Given the description of an element on the screen output the (x, y) to click on. 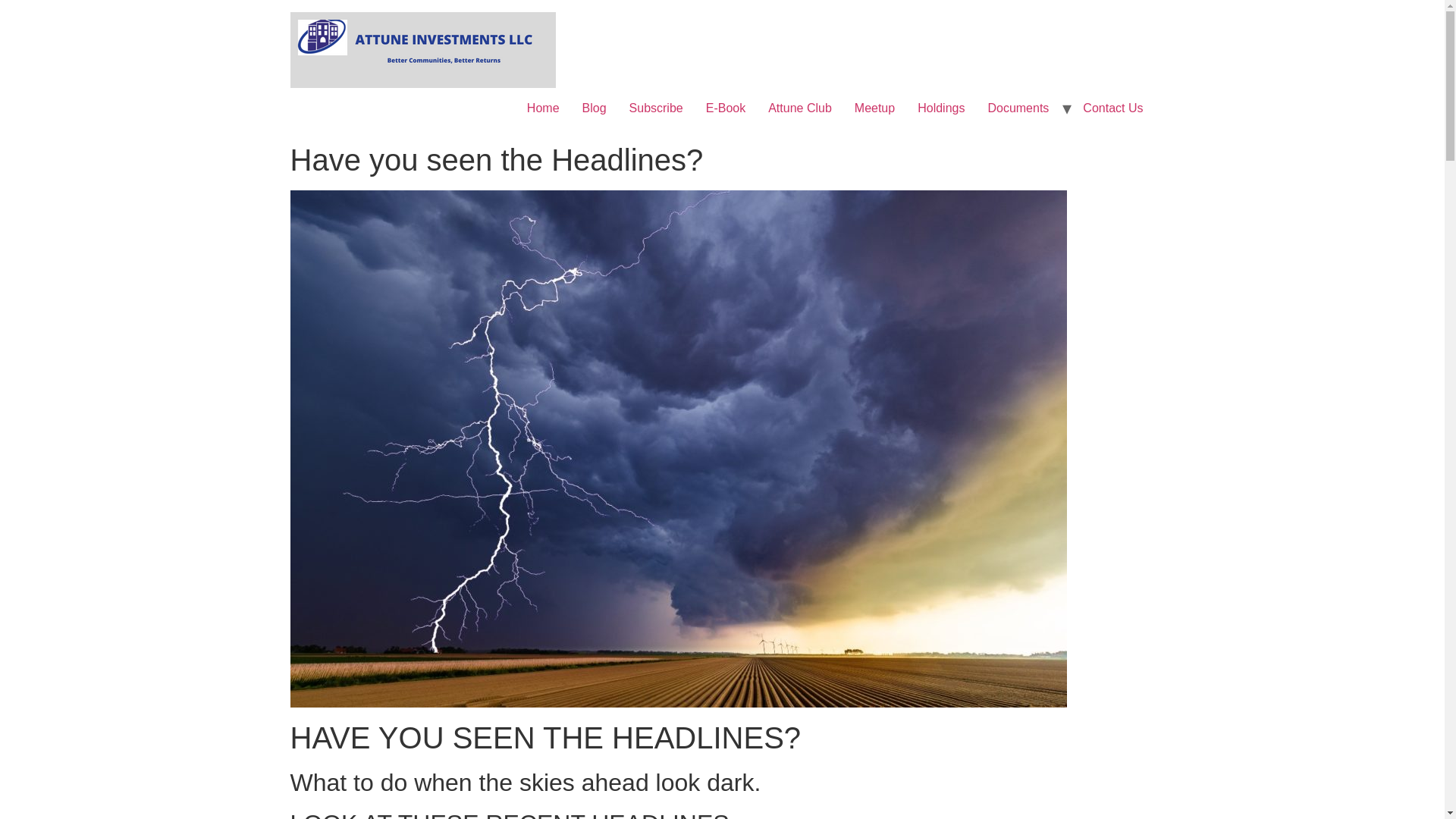
Attune Club (800, 108)
E-Book (725, 108)
Home (542, 108)
Contact Us (1112, 108)
Meetup (874, 108)
Subscribe (655, 108)
Documents (1017, 108)
Blog (593, 108)
Holdings (940, 108)
